Given the description of an element on the screen output the (x, y) to click on. 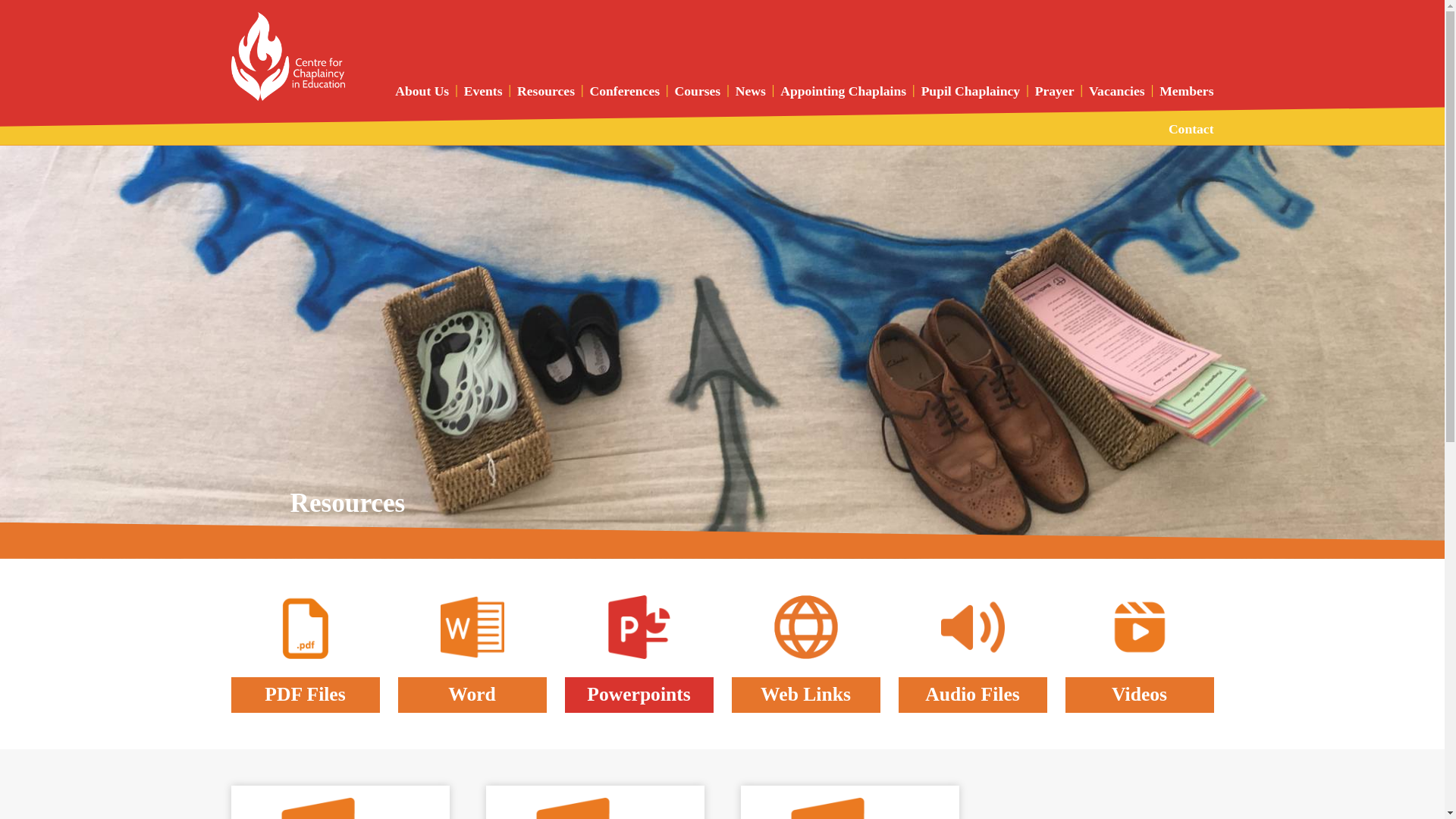
Vacancies (1116, 90)
News (750, 90)
Members (1185, 90)
About Us (421, 90)
Word (471, 653)
PDF Files (304, 653)
Pupil Chaplaincy (970, 90)
Events (483, 90)
Conferences (625, 90)
Appointing Chaplains (842, 90)
Audio Files (972, 653)
Web Links (804, 653)
Prayer (1054, 90)
Videos (1138, 653)
Powerpoints (638, 653)
